Given the description of an element on the screen output the (x, y) to click on. 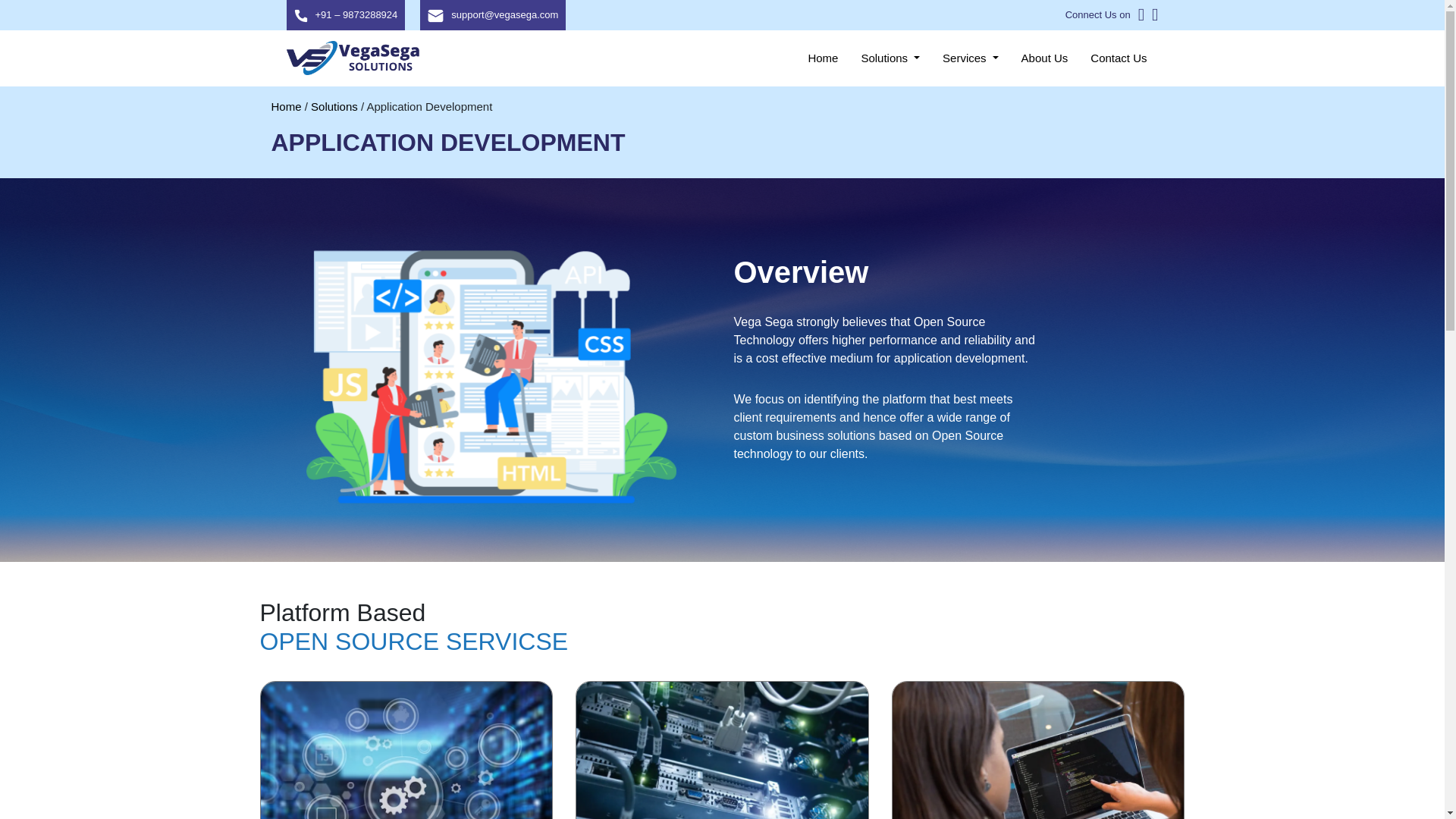
Solutions (890, 58)
Contact Us (1118, 58)
Services (970, 58)
